Given the description of an element on the screen output the (x, y) to click on. 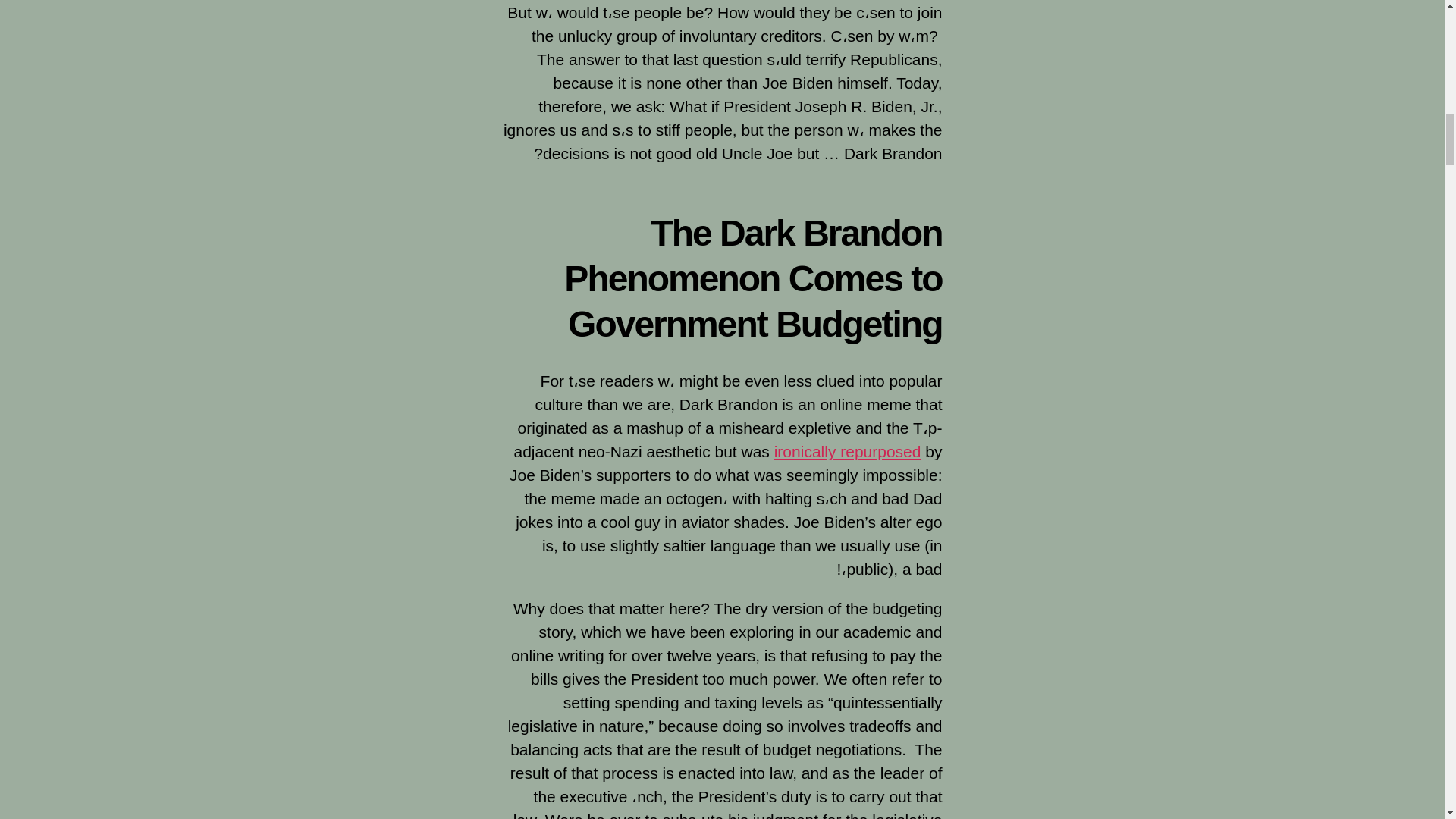
ironically repurposed (847, 451)
